Given the description of an element on the screen output the (x, y) to click on. 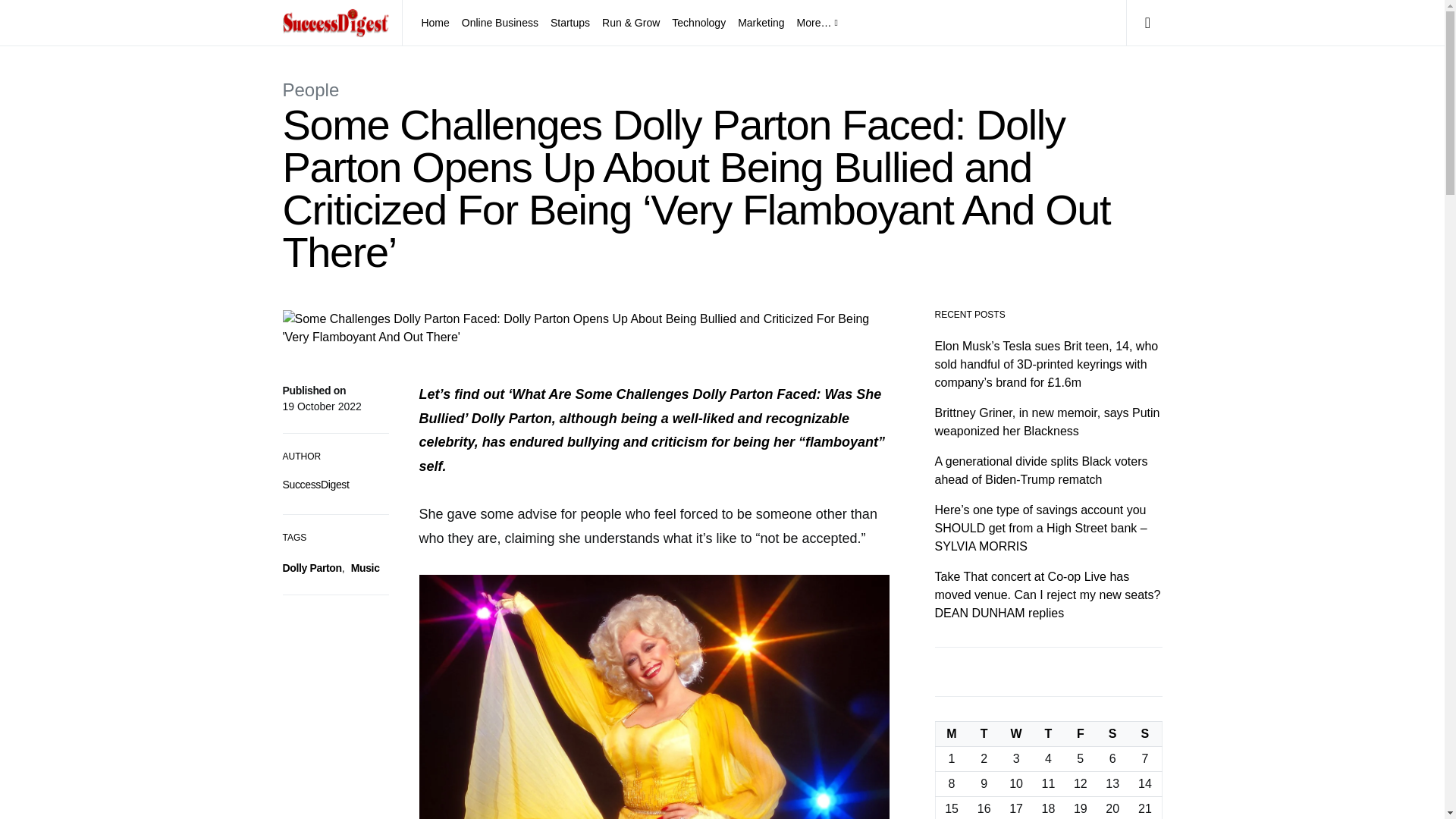
Thursday (1048, 733)
Saturday (1112, 733)
Online Business (499, 22)
Sunday (1144, 733)
Startups (569, 22)
Monday (951, 733)
Friday (1080, 733)
Technology (698, 22)
Dolly Parton (311, 567)
Tuesday (984, 733)
SuccessDigest (315, 484)
People (310, 89)
Wednesday (1016, 733)
Marketing (761, 22)
